Given the description of an element on the screen output the (x, y) to click on. 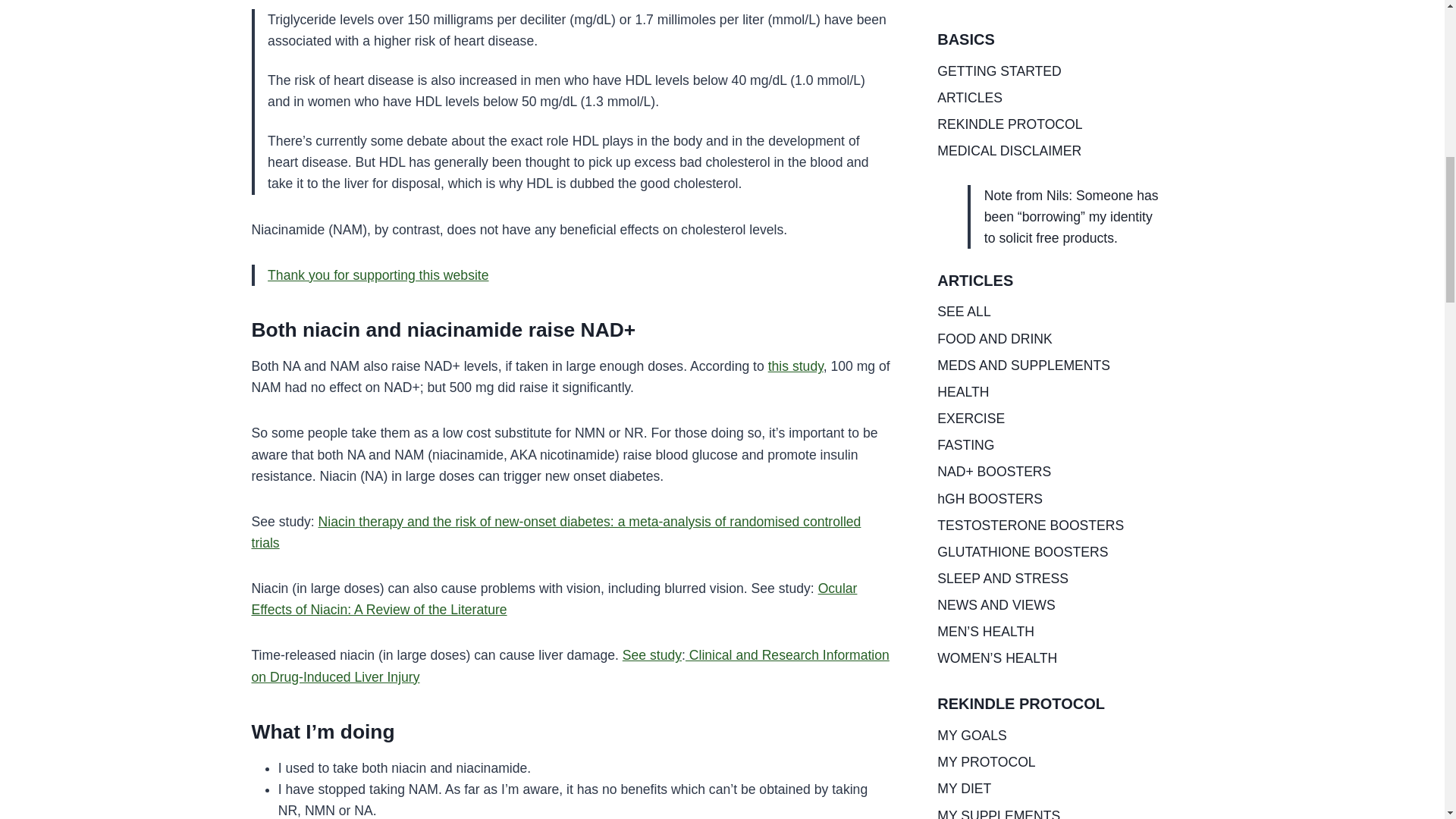
this study (796, 365)
See study (652, 654)
Thank you for supporting this website (377, 274)
Ocular Effects of Niacin: A Review of the Literature (554, 598)
